Given the description of an element on the screen output the (x, y) to click on. 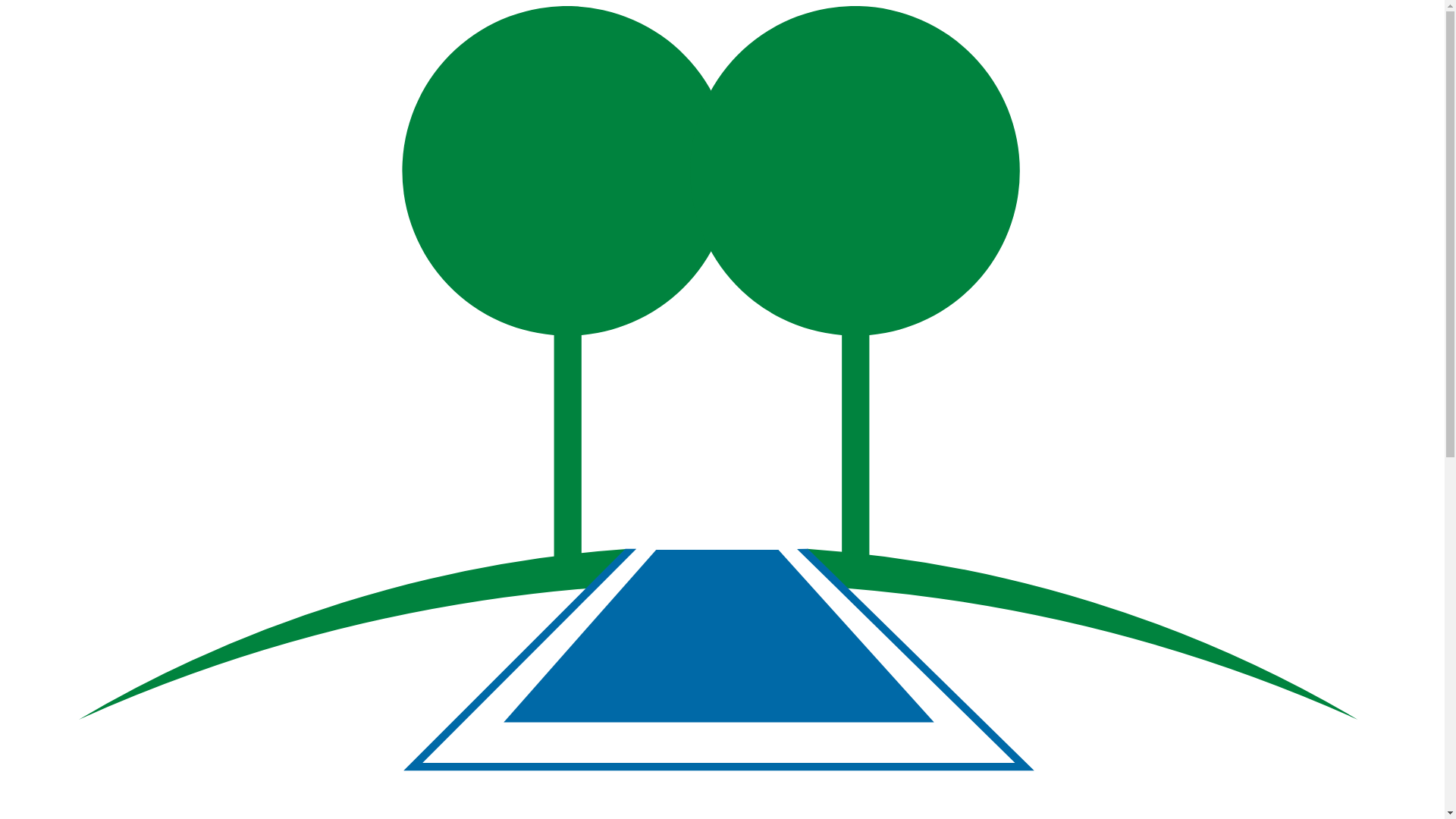
Skip to main content Element type: text (6, 6)
